Given the description of an element on the screen output the (x, y) to click on. 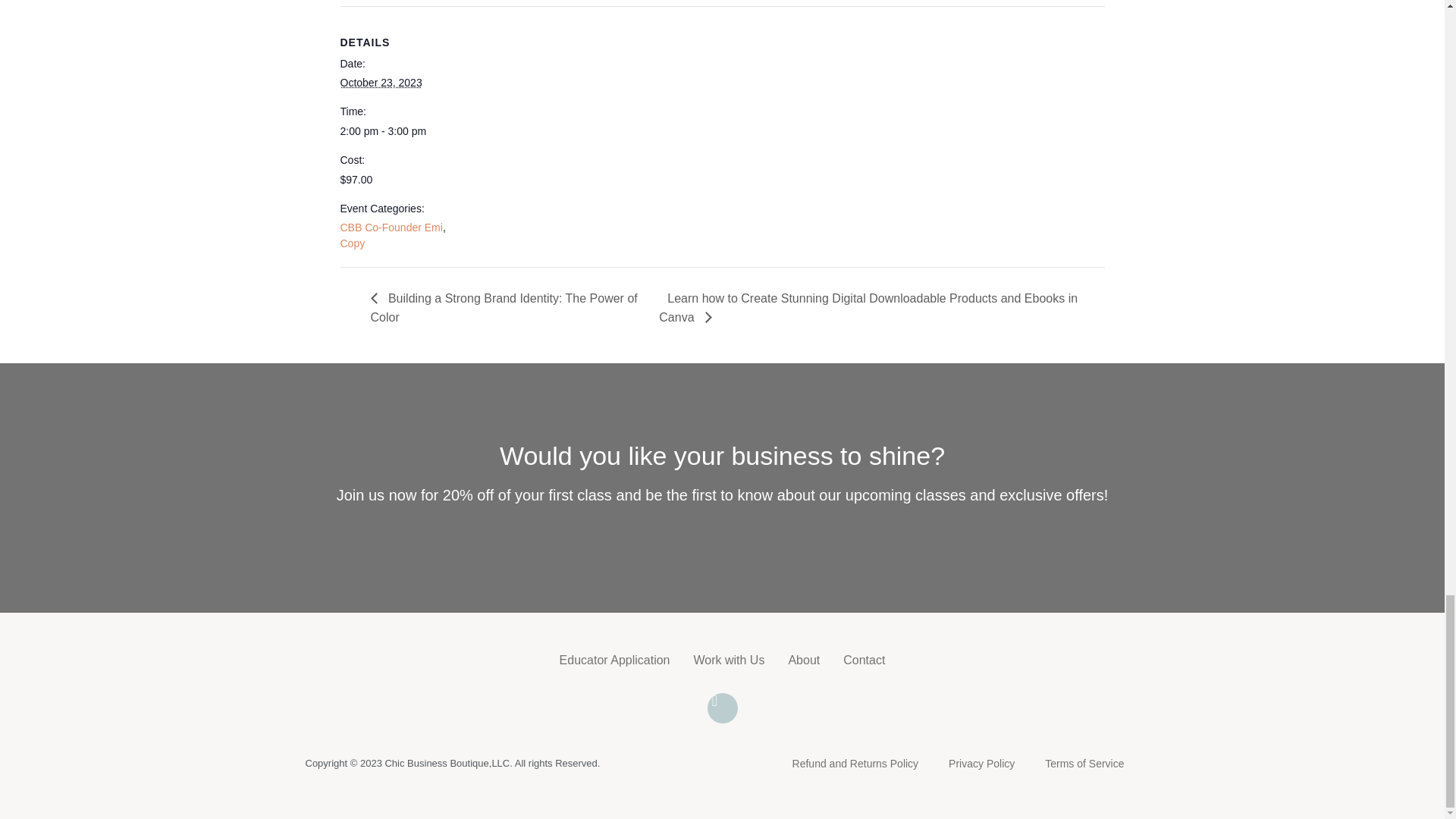
Copy (352, 243)
Privacy Policy (981, 763)
Refund and Returns Policy (855, 763)
About (803, 660)
Work with Us (728, 660)
Terms of Service (1083, 763)
CBB Co-Founder Emi (390, 227)
Building a Strong Brand Identity: The Power of Color (503, 307)
2023-10-23 (380, 82)
Educator Application (614, 660)
2023-10-23 (403, 131)
Contact (864, 660)
